Given the description of an element on the screen output the (x, y) to click on. 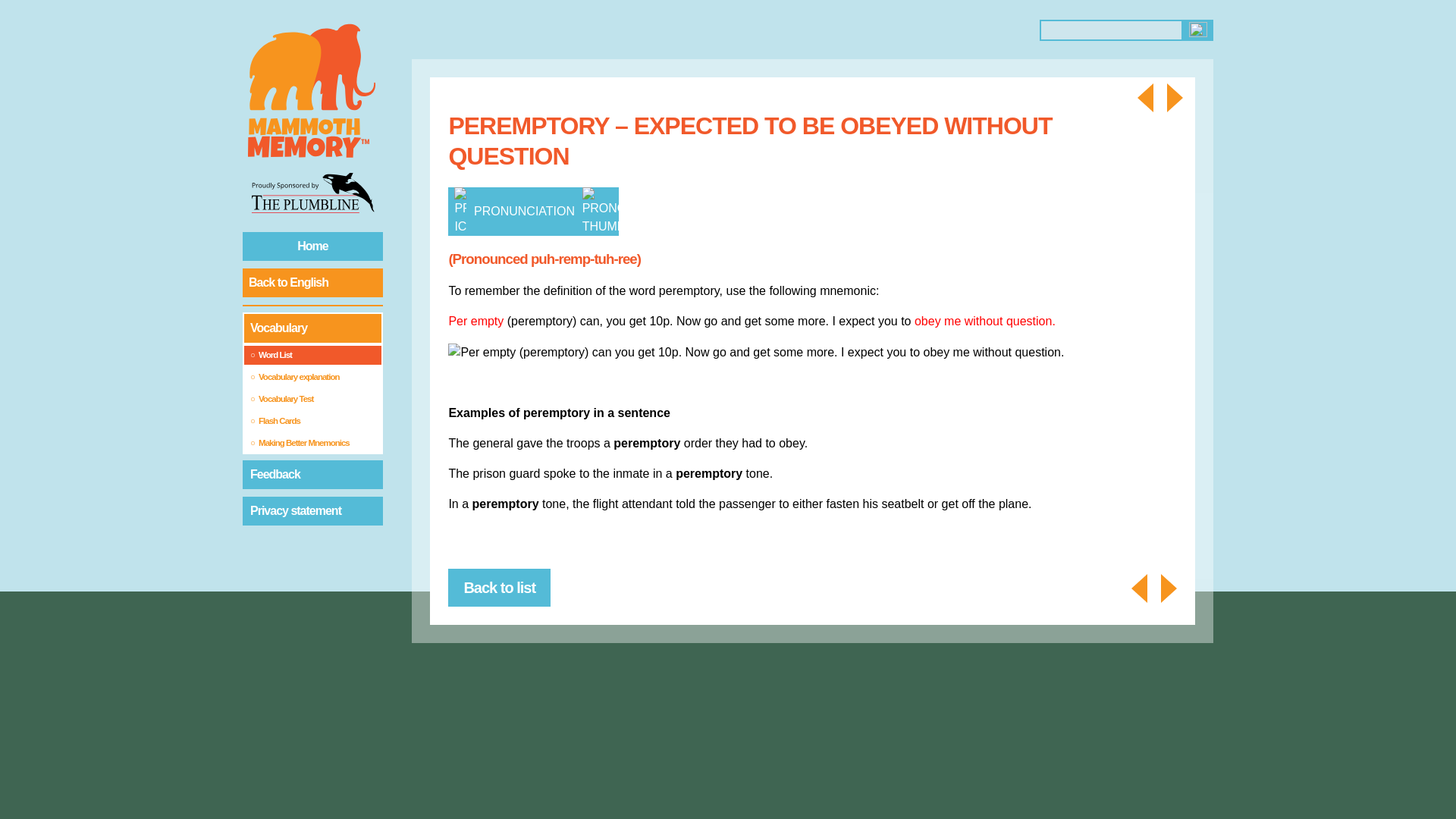
R.S (766, 29)
Vocabulary explanation (312, 377)
Music (804, 29)
Feedback (312, 474)
Back to English (312, 282)
Home (312, 246)
Word List (312, 354)
Back to list (499, 587)
Biology (503, 29)
Sports Science (878, 29)
Vocabulary Test (312, 399)
Privacy statement (312, 510)
Languages (692, 29)
Vocabulary (312, 327)
Maths (578, 29)
